Given the description of an element on the screen output the (x, y) to click on. 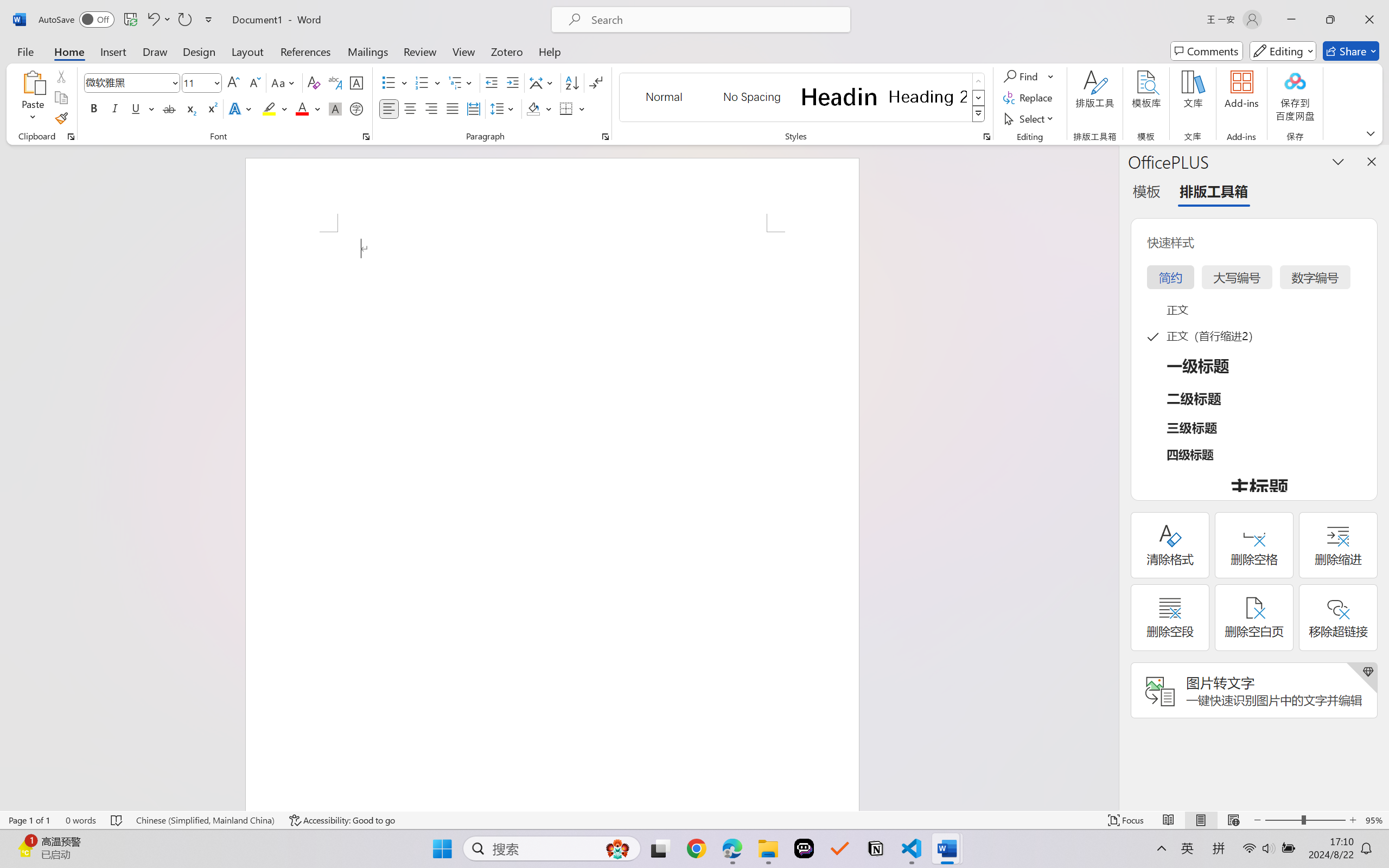
Undo <ApplyStyleToDoc>b__0 (158, 19)
